Given the description of an element on the screen output the (x, y) to click on. 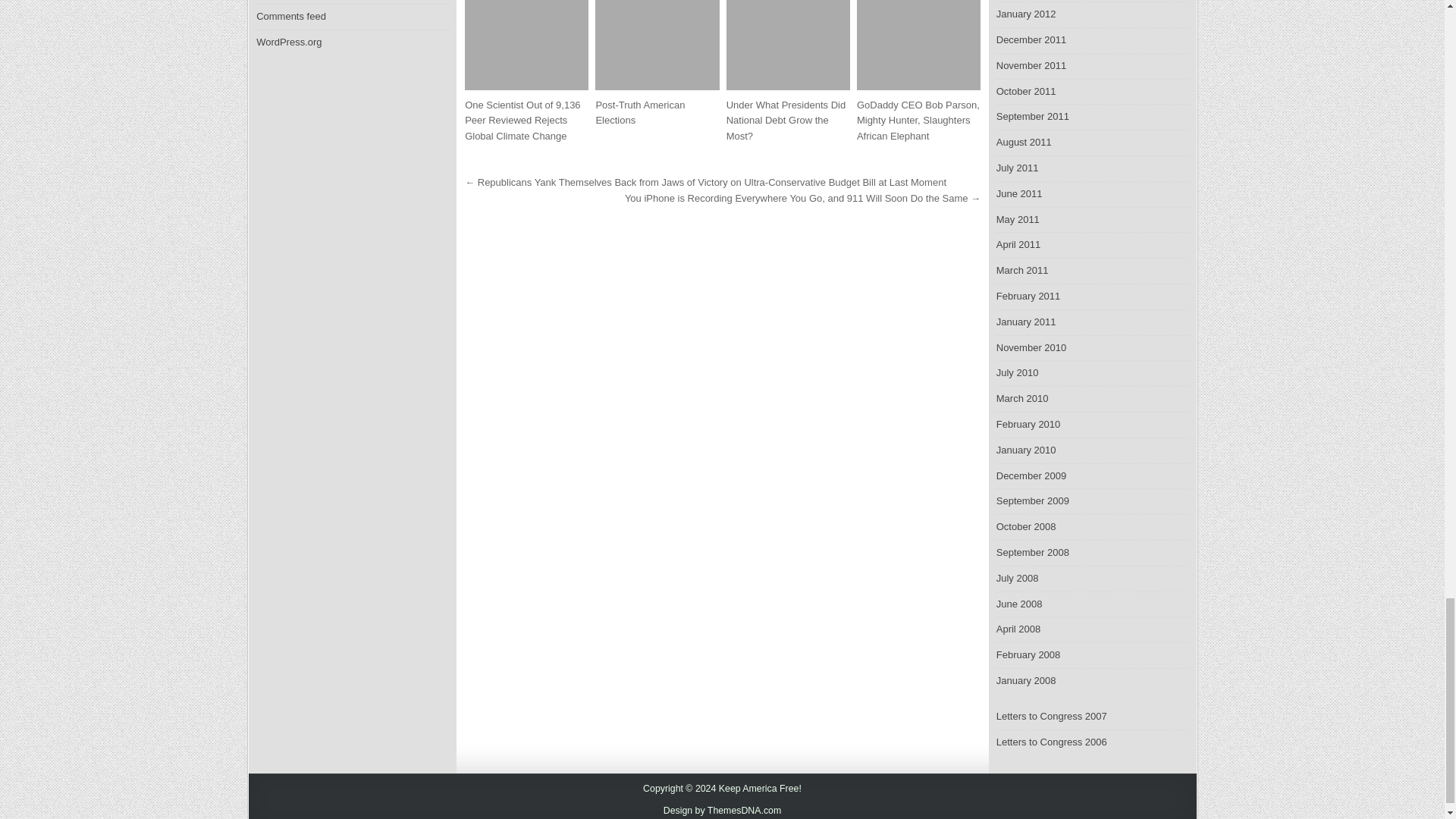
Permanent Link to Post-Truth American Elections (639, 112)
Post-Truth American Elections (639, 112)
Under What Presidents Did National Debt Grow the Most? (785, 120)
Permanent Link to Post-Truth American Elections (657, 44)
